Given the description of an element on the screen output the (x, y) to click on. 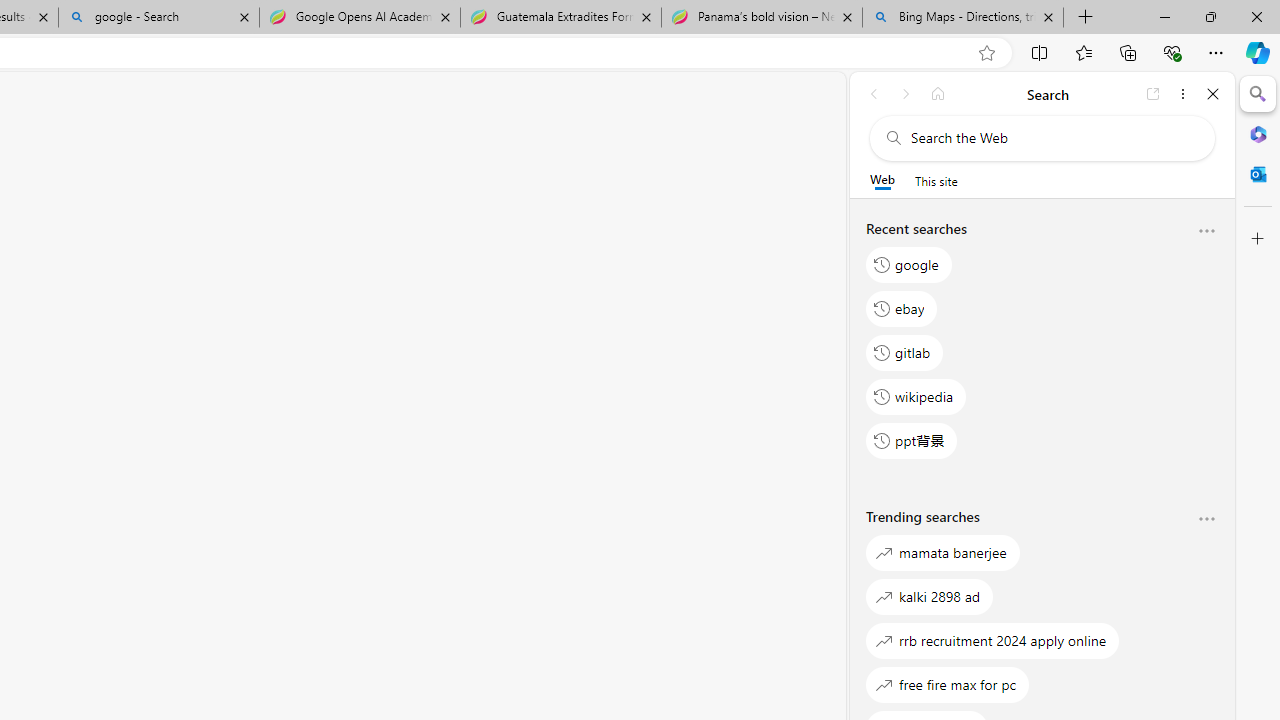
google - Search (158, 17)
google (909, 264)
More options (1206, 520)
Google Opens AI Academy for Startups - Nearshore Americas (359, 17)
Search (1258, 94)
wikipedia (916, 396)
Microsoft 365 (1258, 133)
